Given the description of an element on the screen output the (x, y) to click on. 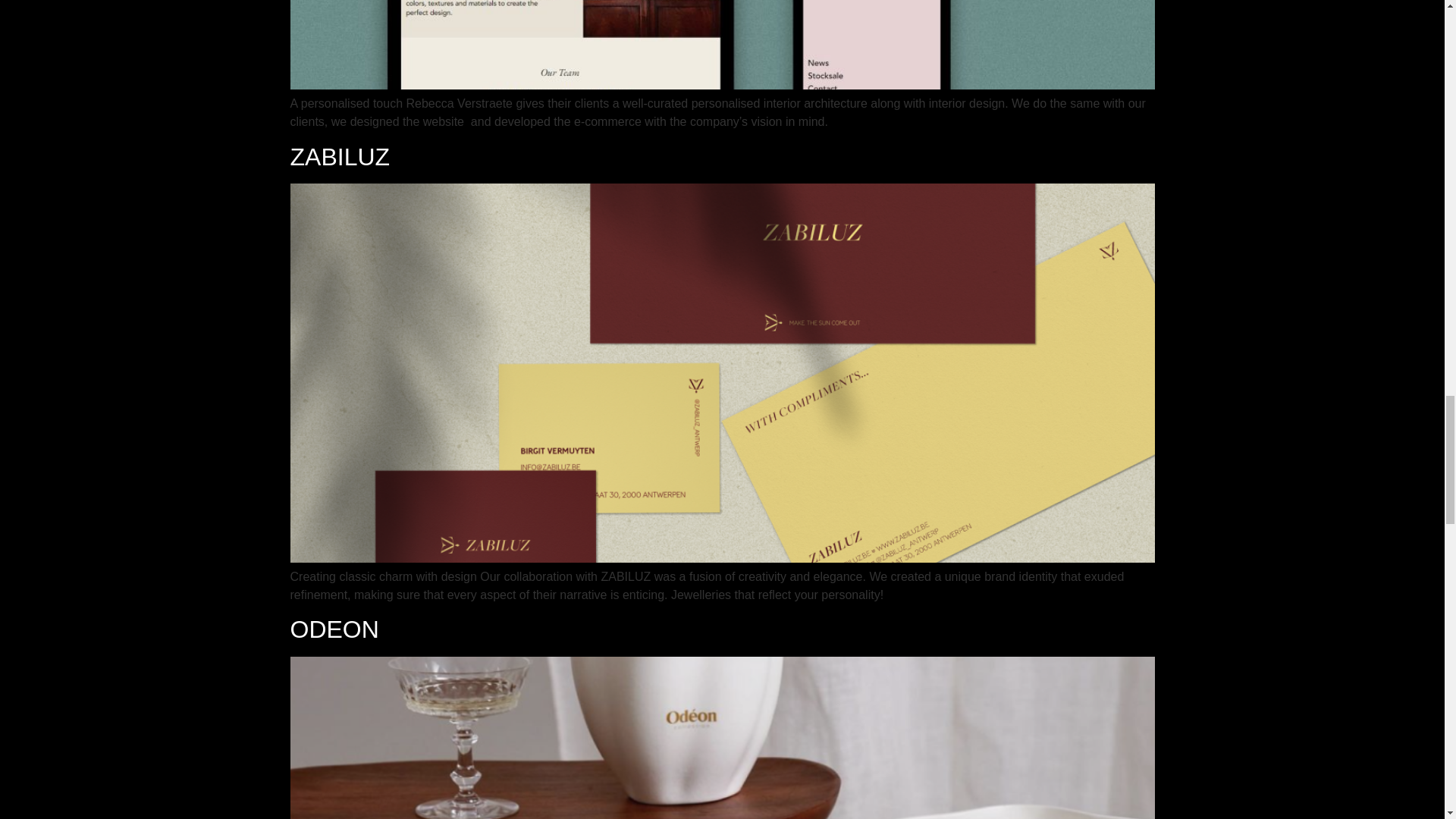
ODEON (333, 628)
ZABILUZ (339, 155)
